Given the description of an element on the screen output the (x, y) to click on. 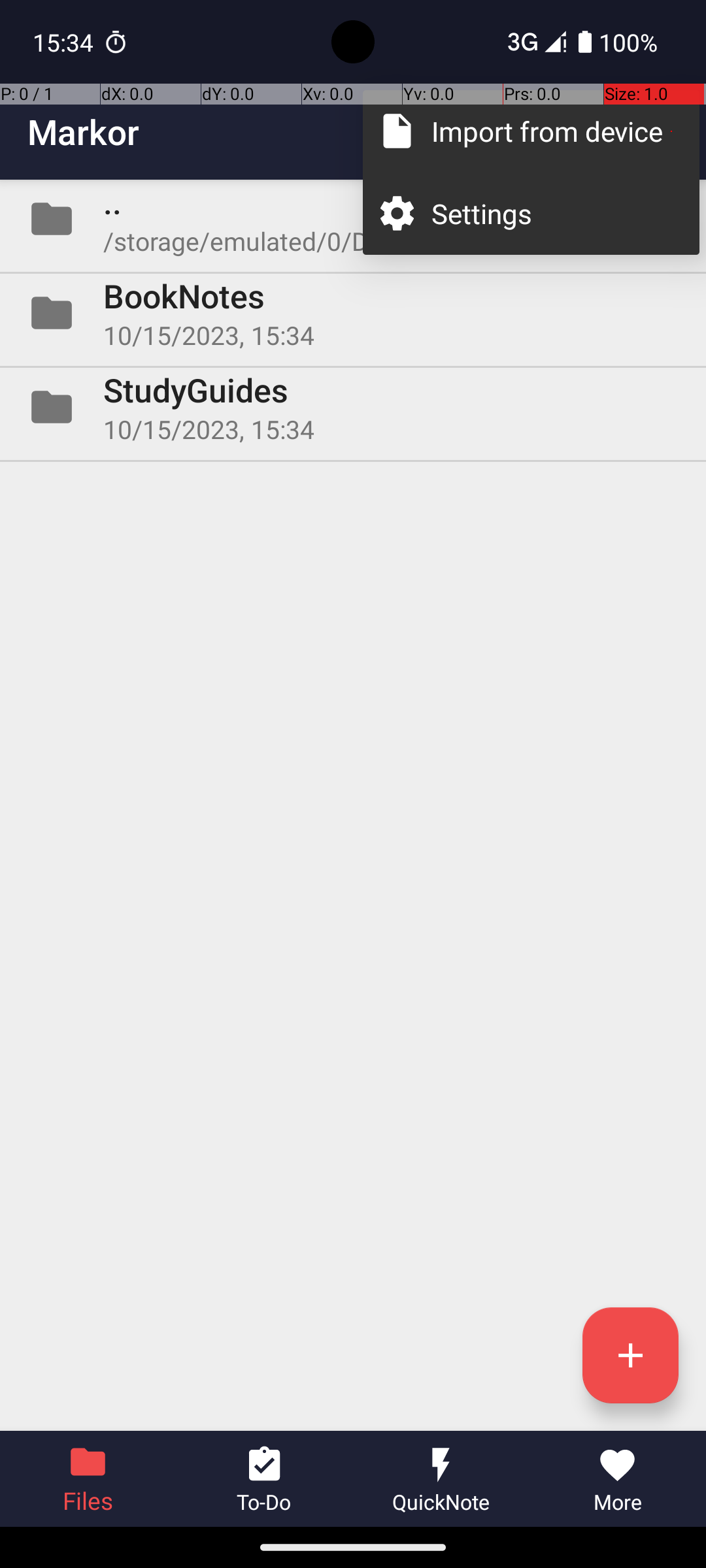
Import from device Element type: android.widget.TextView (551, 130)
